Given the description of an element on the screen output the (x, y) to click on. 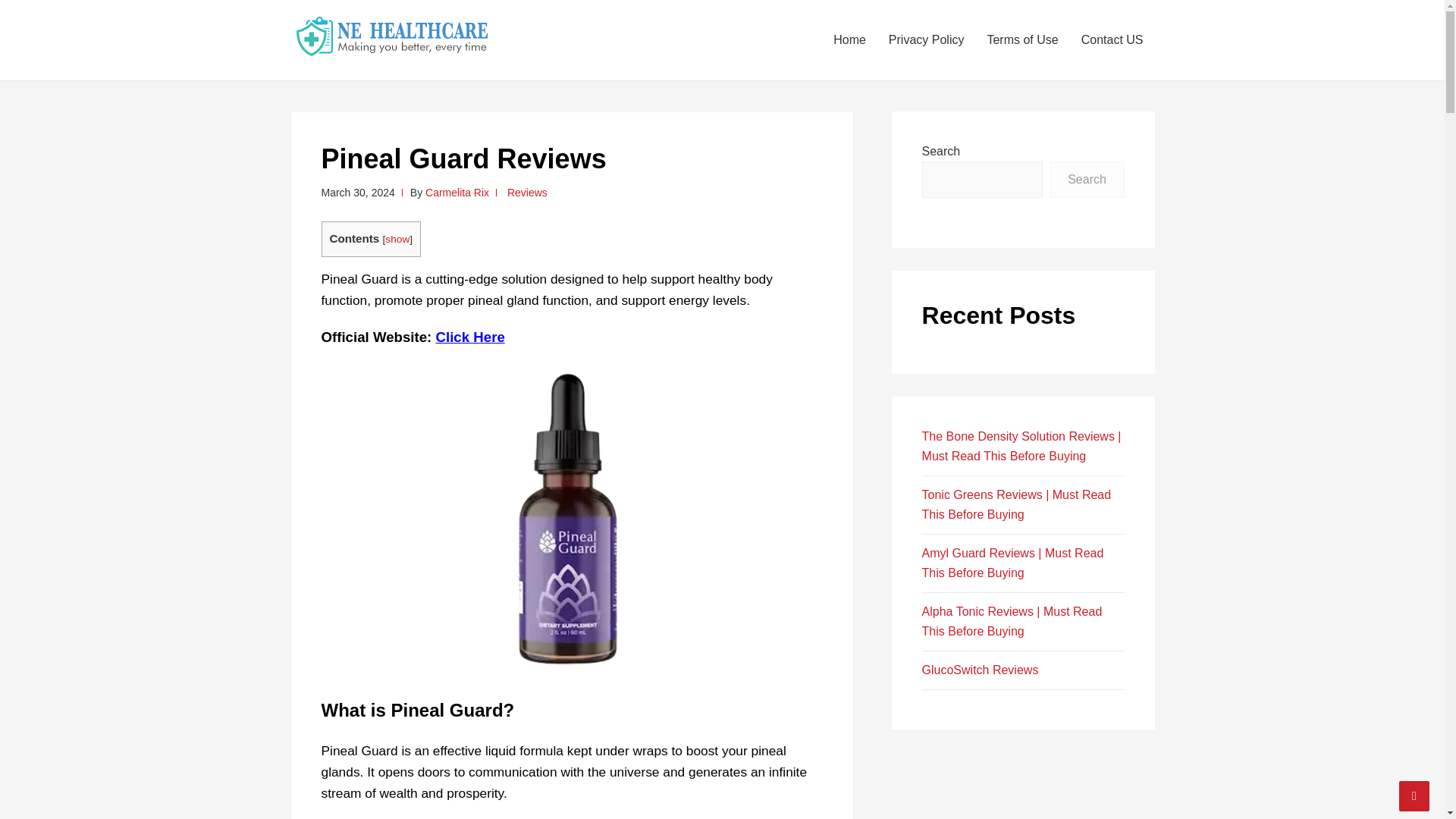
show (397, 238)
Reviews (526, 192)
Privacy Policy (926, 39)
View all posts by Carmelita Rix (457, 192)
Carmelita Rix (457, 192)
Contact US (1112, 39)
Home (849, 39)
Search (1086, 179)
GlucoSwitch Reviews (980, 669)
Terms of Use (1021, 39)
